Given the description of an element on the screen output the (x, y) to click on. 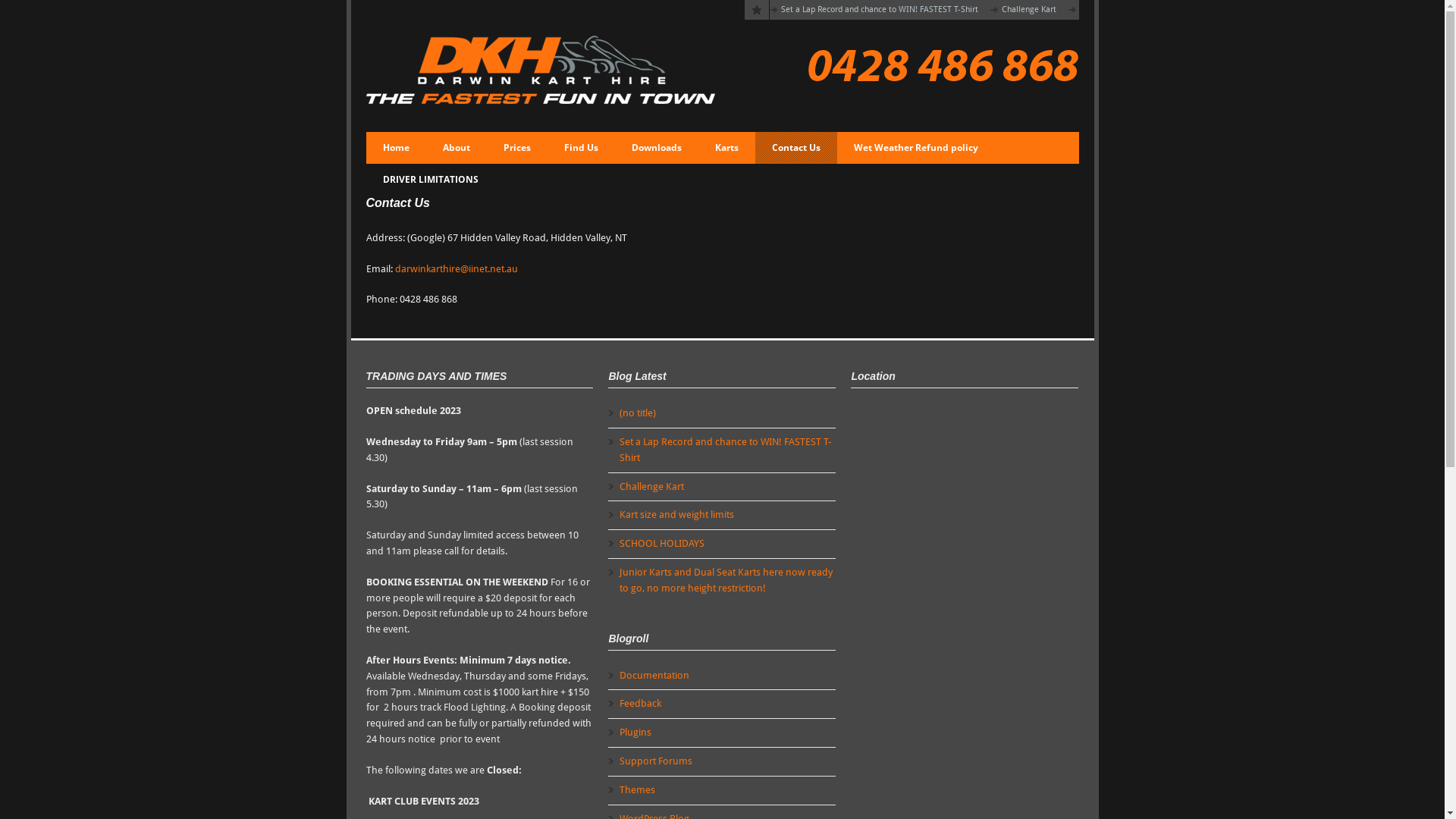
Set a Lap Record and chance to WIN! FASTEST T-Shirt Element type: text (879, 9)
Contact Us Element type: text (796, 147)
Support Forums Element type: text (655, 760)
Set a Lap Record and chance to WIN! FASTEST T-Shirt Element type: text (725, 449)
Karts Element type: text (725, 147)
darwinkarthire@iinet.net.au Element type: text (455, 268)
Prices Element type: text (516, 147)
Challenge Kart Element type: text (651, 486)
Themes Element type: text (637, 789)
Downloads Element type: text (655, 147)
Home Element type: text (395, 147)
About Element type: text (456, 147)
Kart size and weight limits Element type: text (676, 514)
Feedback Element type: text (640, 703)
SCHOOL HOLIDAYS Element type: text (661, 543)
DRIVER LIMITATIONS Element type: text (429, 179)
Plugins Element type: text (635, 731)
(no title) Element type: text (637, 412)
Find Us Element type: text (581, 147)
Challenge Kart Element type: text (1028, 9)
Documentation Element type: text (654, 674)
Wet Weather Refund policy Element type: text (915, 147)
